Given the description of an element on the screen output the (x, y) to click on. 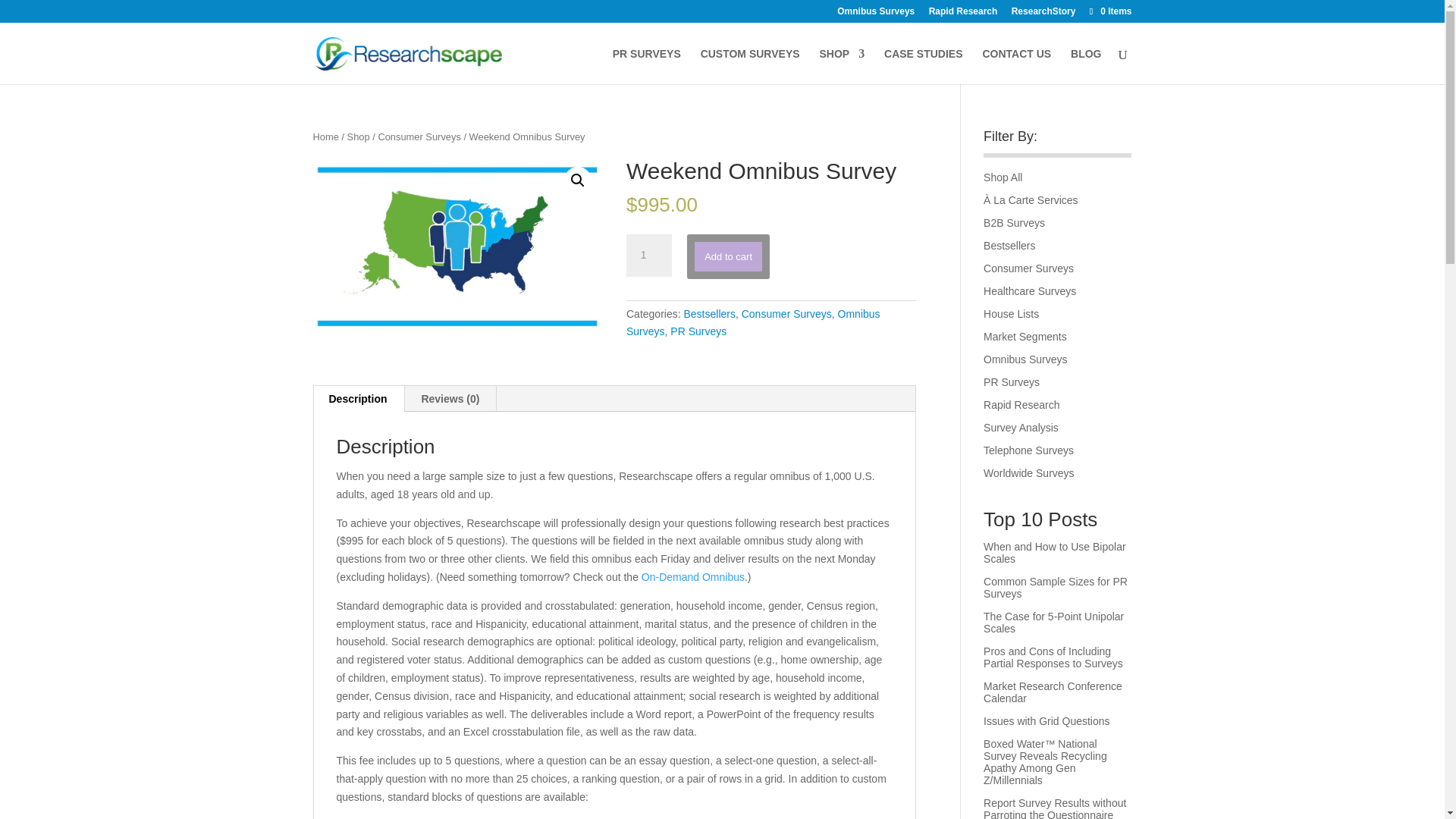
PR SURVEYS (646, 66)
ResearchStory (1043, 14)
SHOP (841, 66)
0 Items (1108, 10)
CONTACT US (1016, 66)
CUSTOM SURVEYS (749, 66)
CASE STUDIES (922, 66)
Rapid Research (962, 14)
1 (648, 255)
Omnibus Surveys (875, 14)
